Given the description of an element on the screen output the (x, y) to click on. 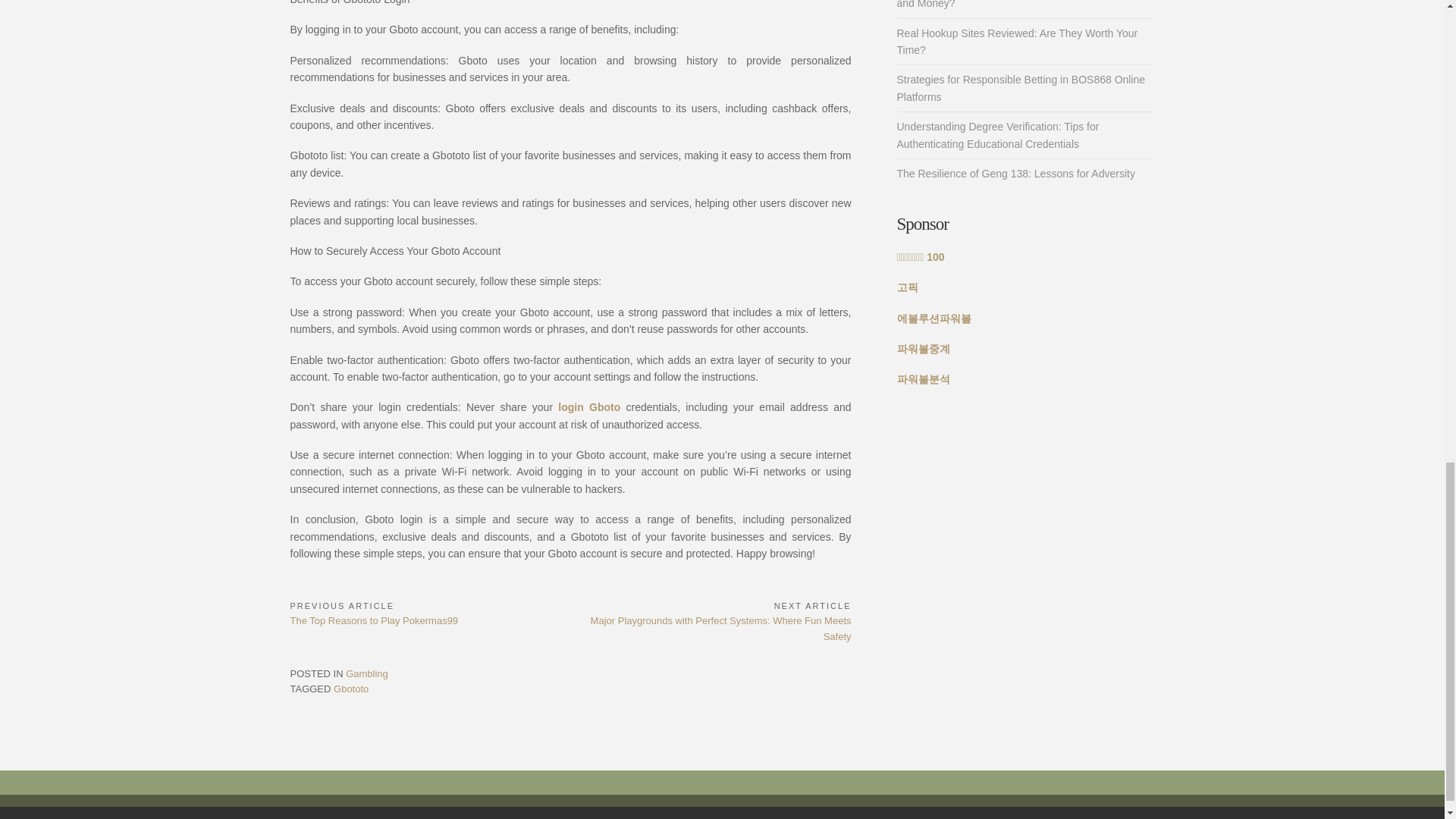
The Resilience of Geng 138: Lessons for Adversity (1015, 173)
Gbototo (350, 688)
Gambling (367, 673)
Real Hookup Sites Reviewed: Are They Worth Your Time? (1016, 41)
login Gboto (588, 407)
Ashley Madison Review 2024: Is It Worth Your Time and Money? (1018, 4)
